Given the description of an element on the screen output the (x, y) to click on. 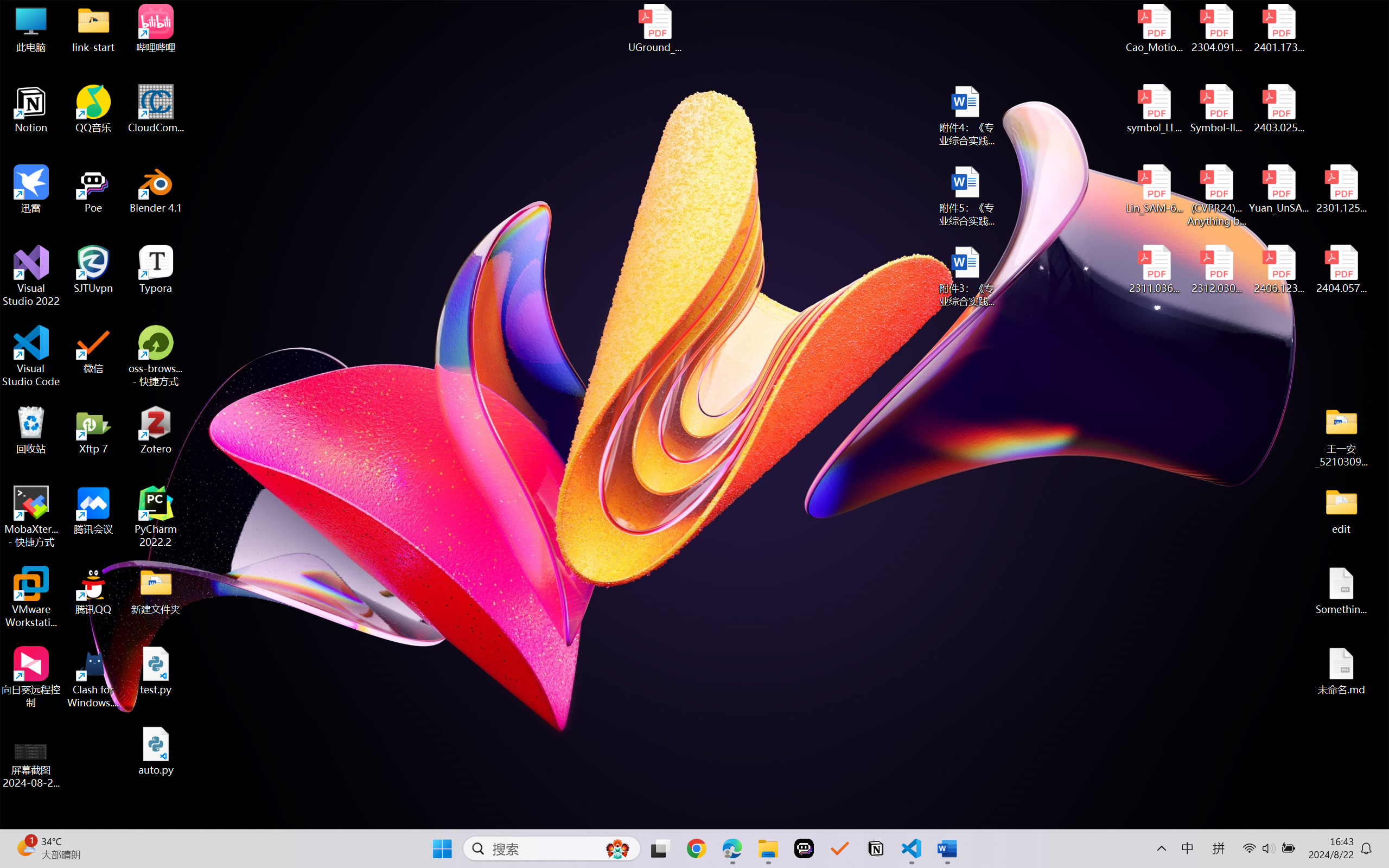
(CVPR24)Matching Anything by Segmenting Anything.pdf (1216, 195)
Google Chrome (696, 848)
auto.py (156, 751)
Typora (156, 269)
test.py (156, 670)
2406.12373v2.pdf (1278, 269)
symbol_LLM.pdf (1154, 109)
2301.12597v3.pdf (1340, 189)
